Given the description of an element on the screen output the (x, y) to click on. 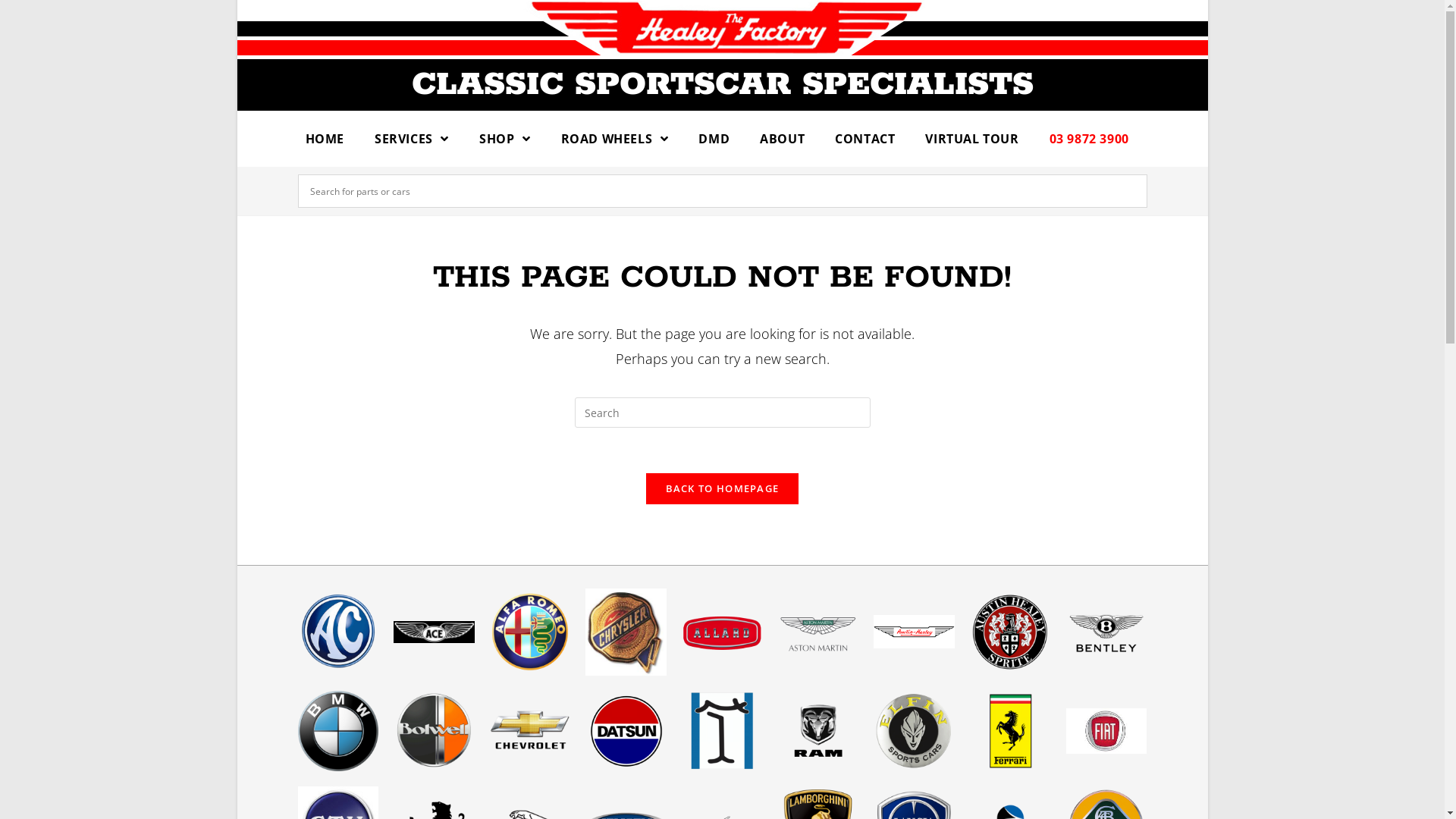
VIRTUAL TOUR Element type: text (971, 138)
SERVICES Element type: text (411, 138)
ROAD WHEELS Element type: text (615, 138)
ABOUT Element type: text (781, 138)
BACK TO HOMEPAGE Element type: text (722, 488)
DMD Element type: text (713, 138)
SHOP Element type: text (505, 138)
HOME Element type: text (323, 138)
03 9872 3900 Element type: text (1089, 138)
CONTACT Element type: text (864, 138)
